Given the description of an element on the screen output the (x, y) to click on. 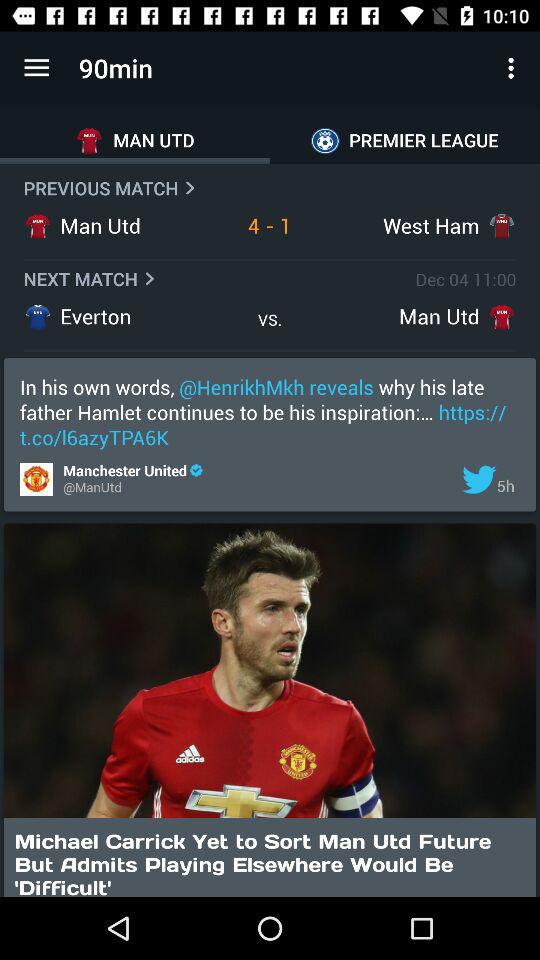
choose the app next to 90min icon (36, 68)
